Given the description of an element on the screen output the (x, y) to click on. 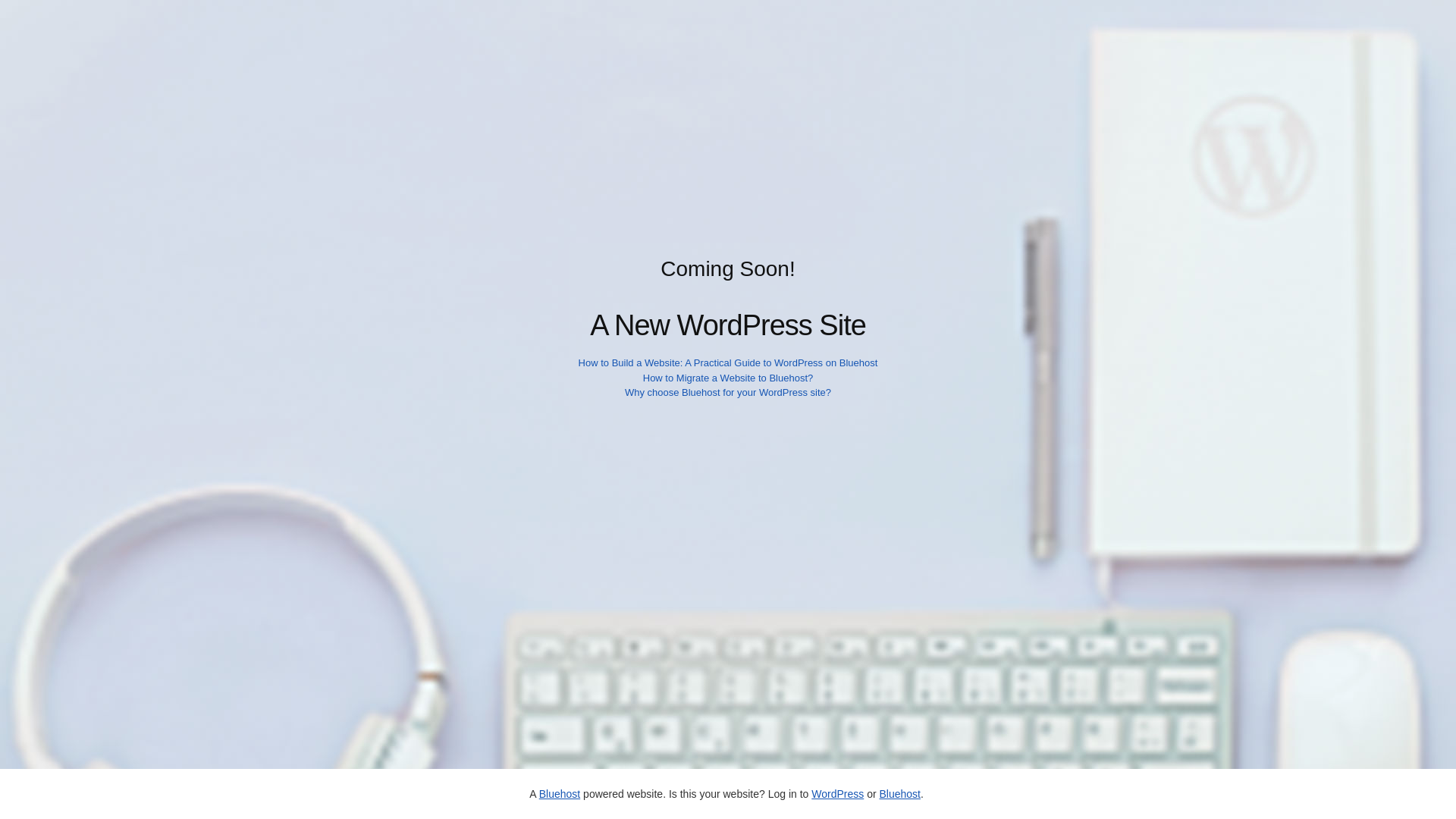
How to Migrate a Website to Bluehost? (728, 378)
WordPress (836, 793)
Bluehost (558, 793)
Bluehost (899, 793)
Why choose Bluehost for your WordPress site? (727, 392)
